Given the description of an element on the screen output the (x, y) to click on. 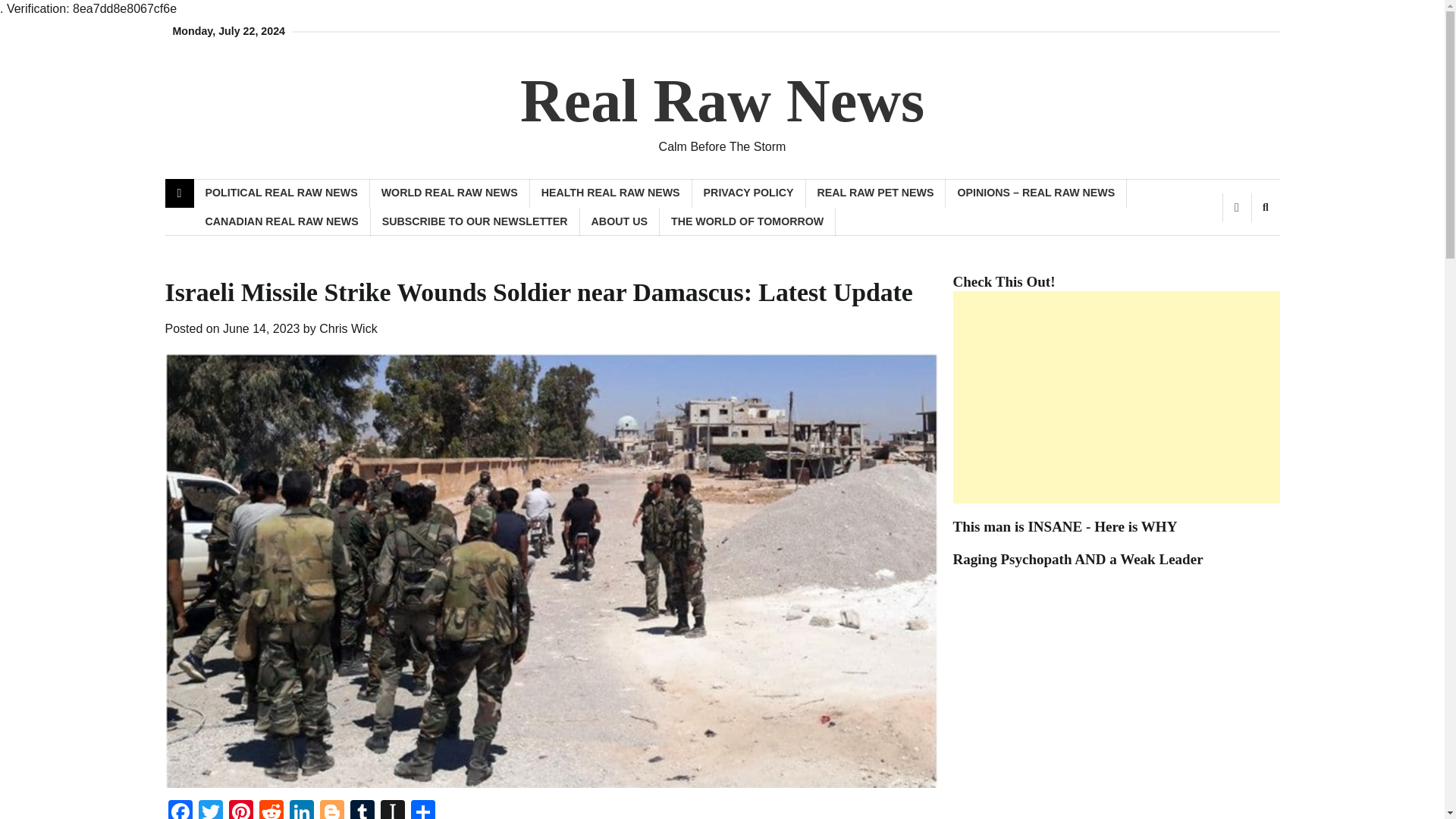
HEALTH REAL RAW NEWS (611, 193)
Pinterest (240, 809)
LinkedIn (301, 809)
PRIVACY POLICY (749, 193)
THE WORLD OF TOMORROW (747, 221)
POLITICAL REAL RAW NEWS (281, 193)
LinkedIn (301, 809)
Blogger (332, 809)
Twitter (210, 809)
Pinterest (240, 809)
Blogger (332, 809)
CANADIAN REAL RAW NEWS (282, 221)
ABOUT US (619, 221)
Tumblr (362, 809)
Reddit (271, 809)
